Given the description of an element on the screen output the (x, y) to click on. 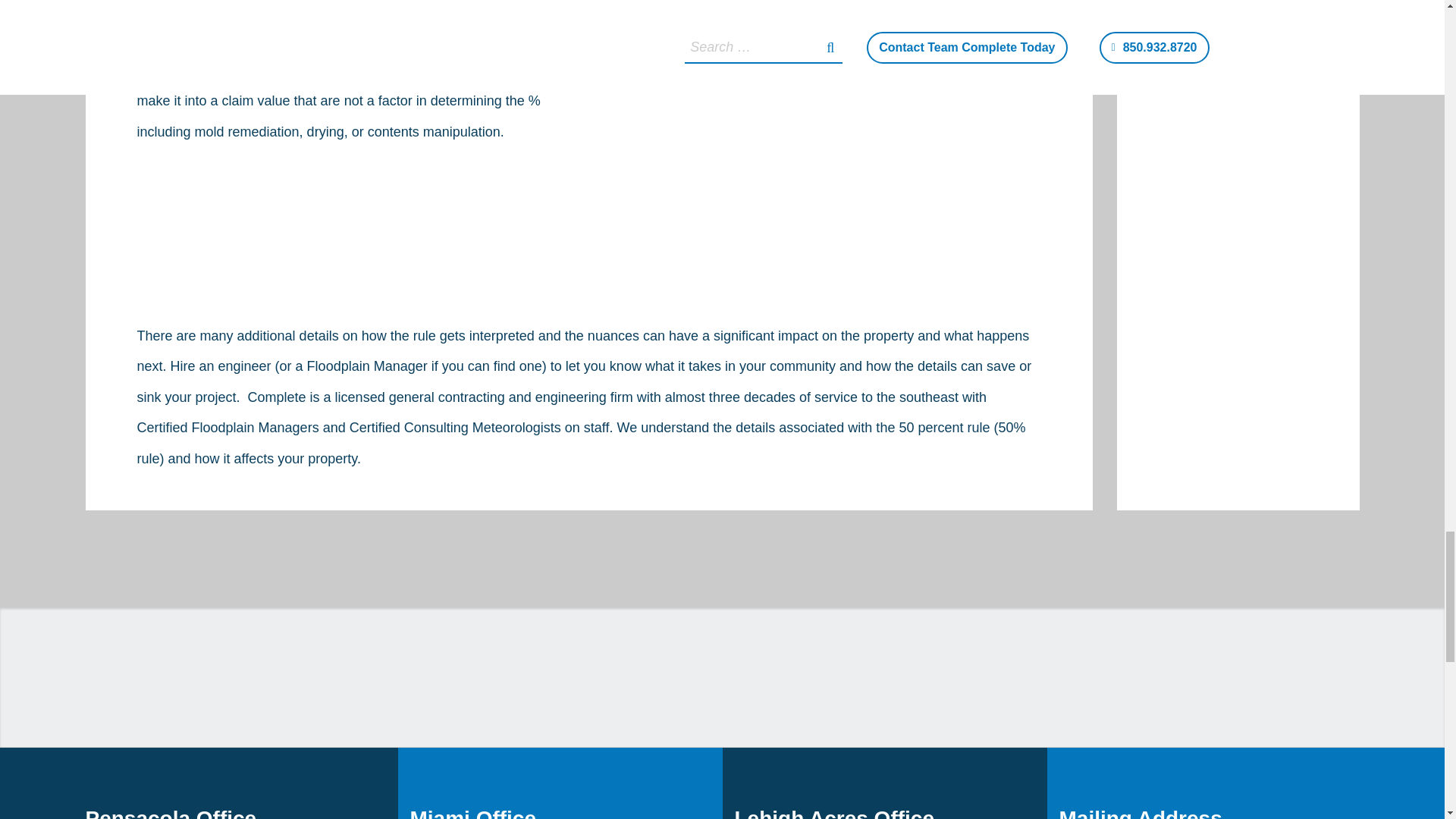
American Society of Civil Engineers (250, 683)
ASTM International (541, 683)
